Given the description of an element on the screen output the (x, y) to click on. 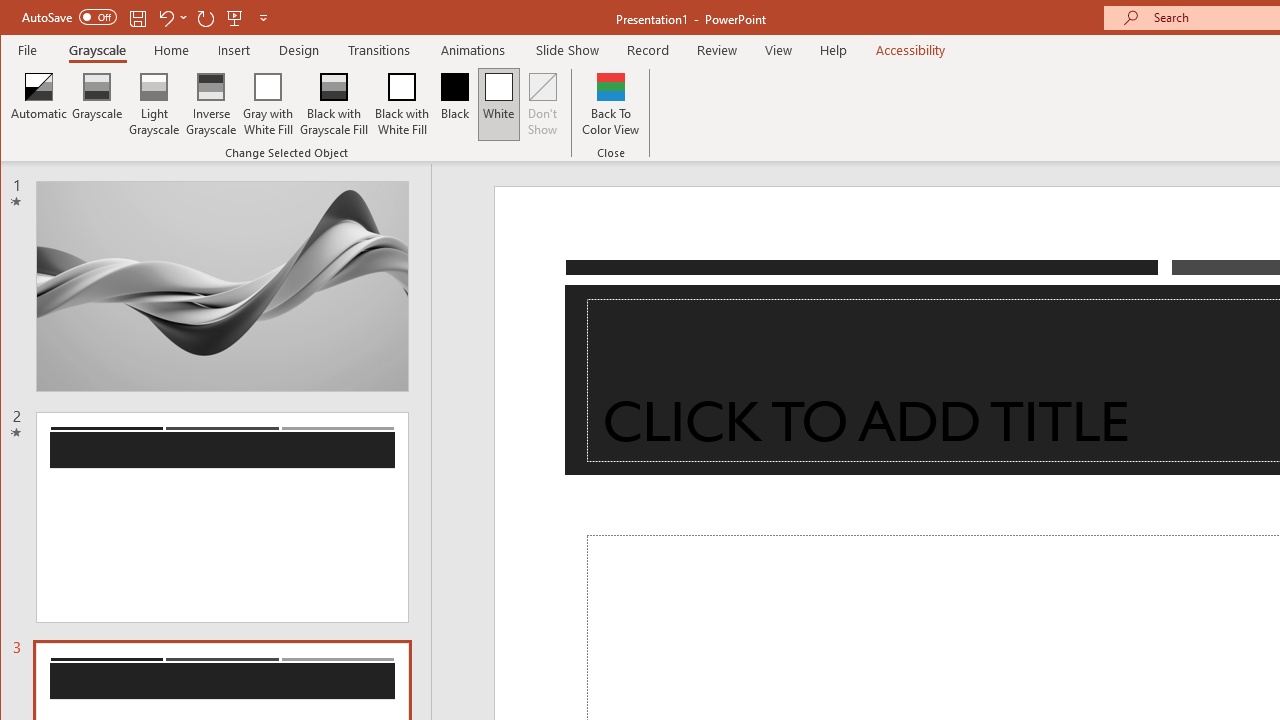
Light Grayscale (153, 104)
Automatic (39, 104)
Black (454, 104)
Black with Grayscale Fill (334, 104)
Gray with White Fill (267, 104)
Inverse Grayscale (211, 104)
